Given the description of an element on the screen output the (x, y) to click on. 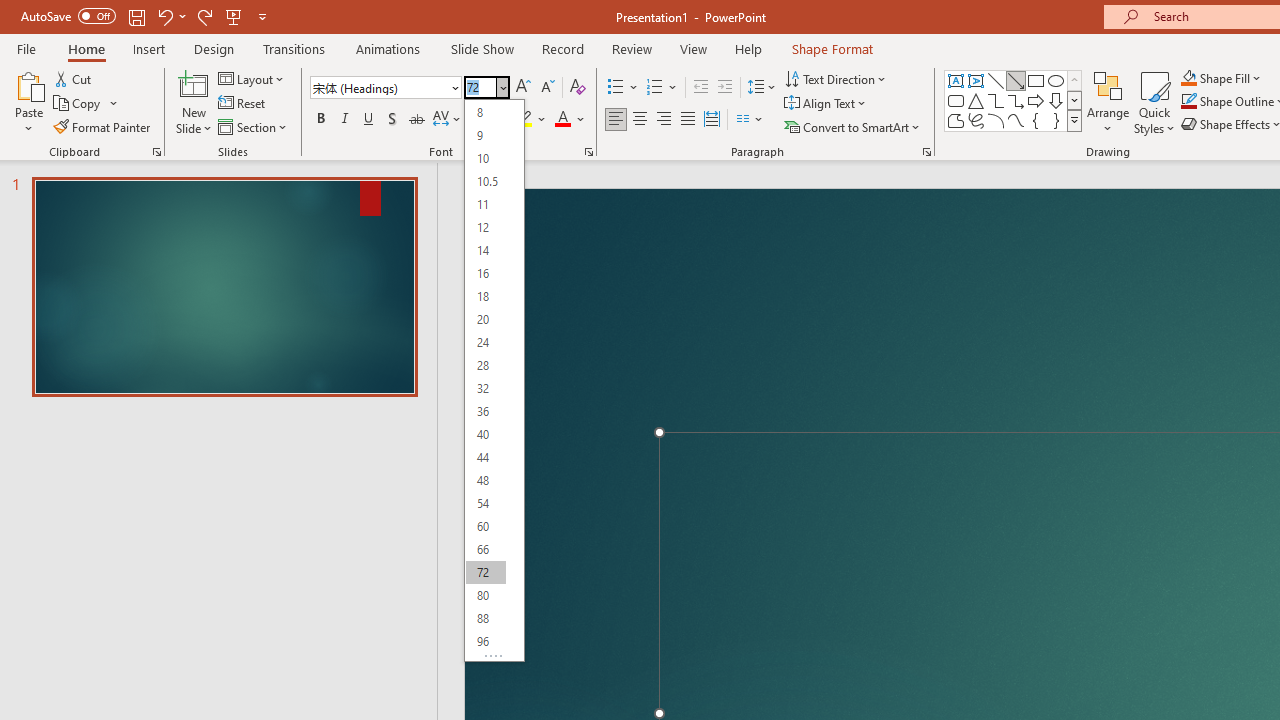
28 (485, 365)
44 (485, 456)
